Given the description of an element on the screen output the (x, y) to click on. 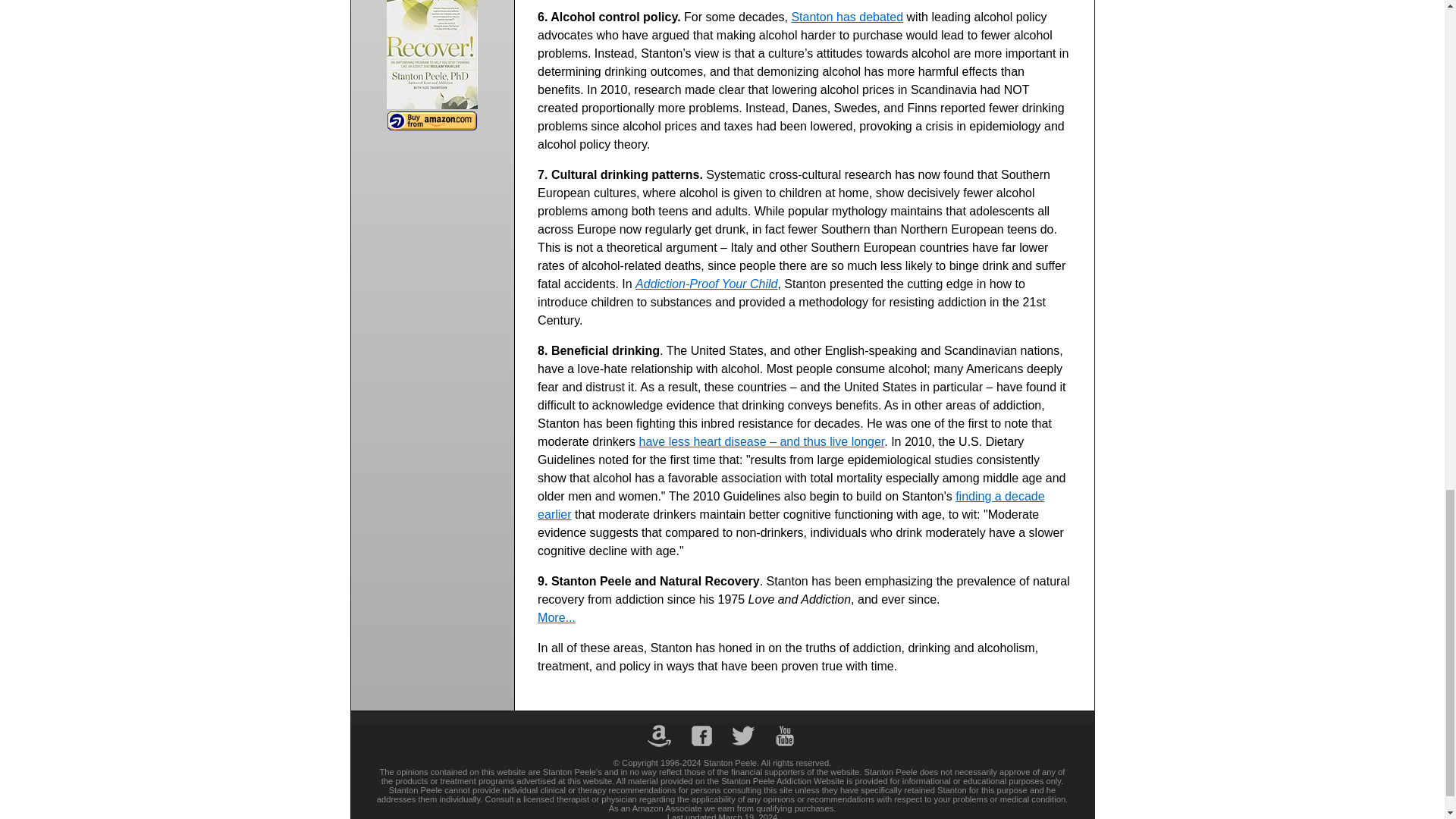
Stanton has debated (846, 16)
finding a decade earlier (790, 504)
More... (738, 626)
Addiction-Proof Your Child (705, 283)
